Given the description of an element on the screen output the (x, y) to click on. 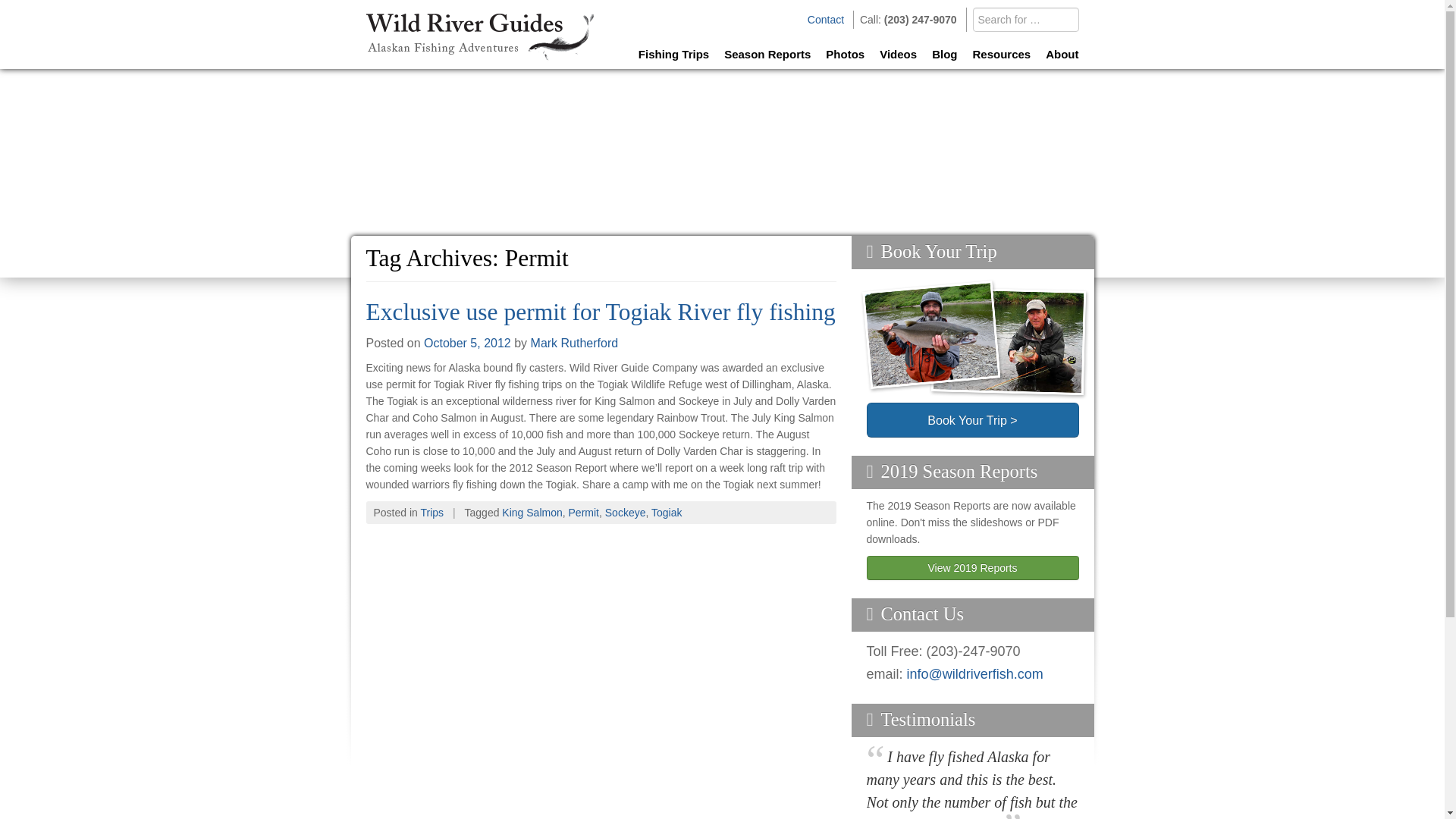
Contact (826, 20)
2:53 am (467, 342)
Blog (943, 53)
Photos (844, 53)
Videos (898, 53)
View all posts by Mark Rutherford (574, 342)
Fishing Trips (674, 53)
Season Reports (766, 53)
